Given the description of an element on the screen output the (x, y) to click on. 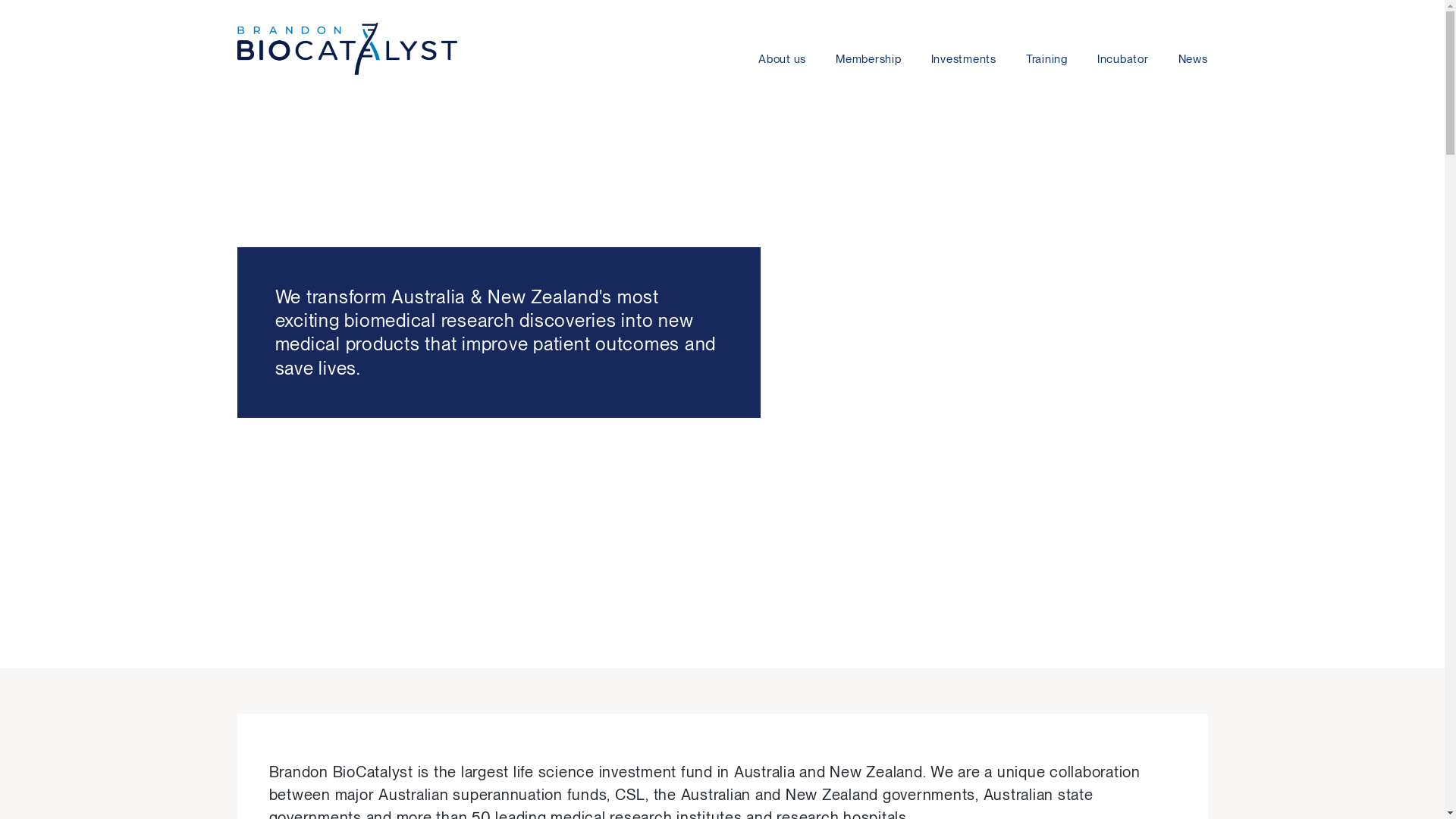
About us Element type: text (789, 42)
Investments Element type: text (963, 42)
News Element type: text (1185, 42)
Membership Element type: text (868, 42)
Training Element type: text (1046, 42)
Incubator Element type: text (1122, 42)
